Given the description of an element on the screen output the (x, y) to click on. 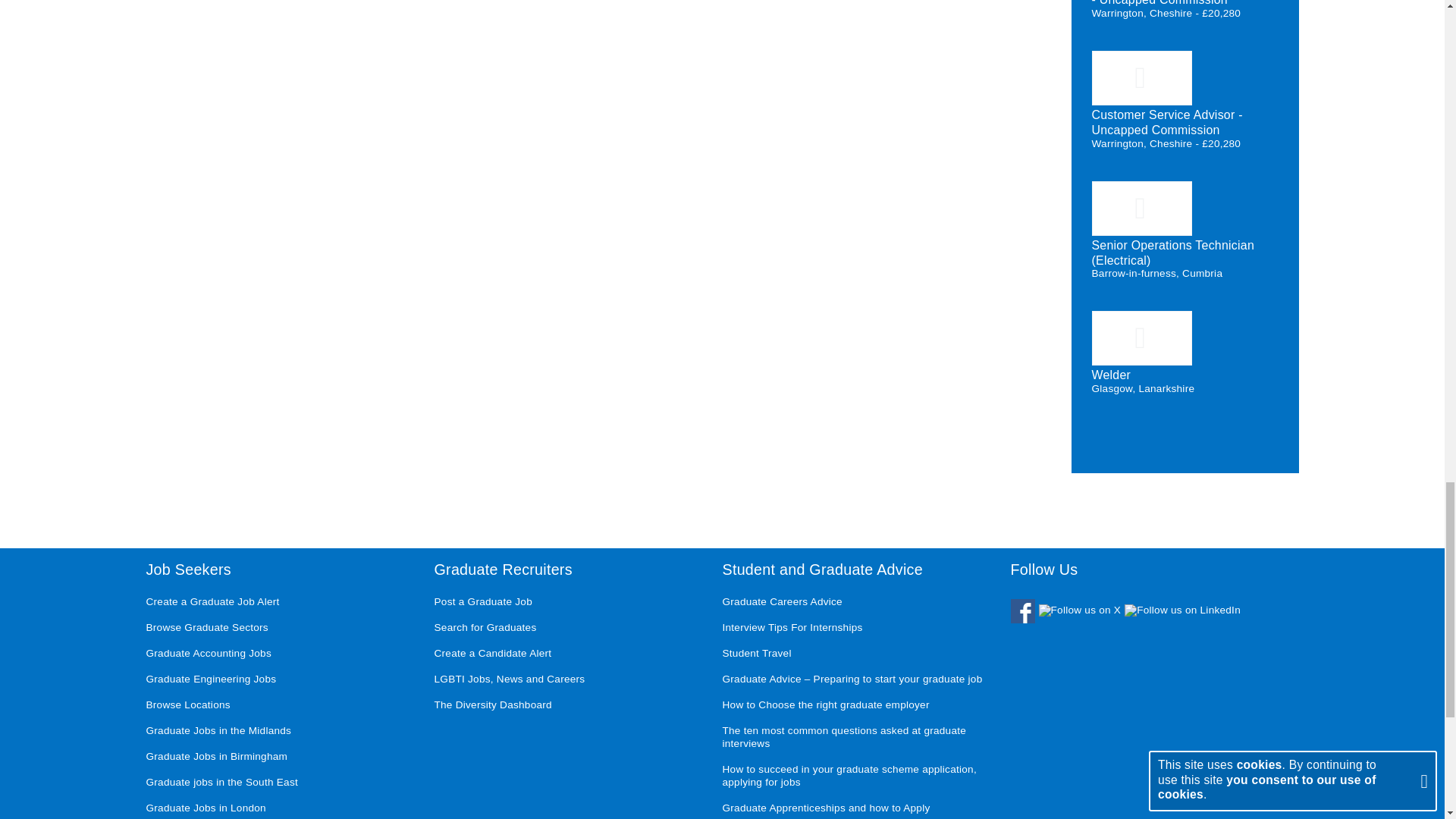
BAE Systems (1142, 338)
Customer Service Representative - Uncapped Commission (1185, 2)
Welder (1111, 374)
BAE Systems (1142, 207)
EE (1142, 77)
Customer Service Advisor - Uncapped Commission (1167, 122)
